Given the description of an element on the screen output the (x, y) to click on. 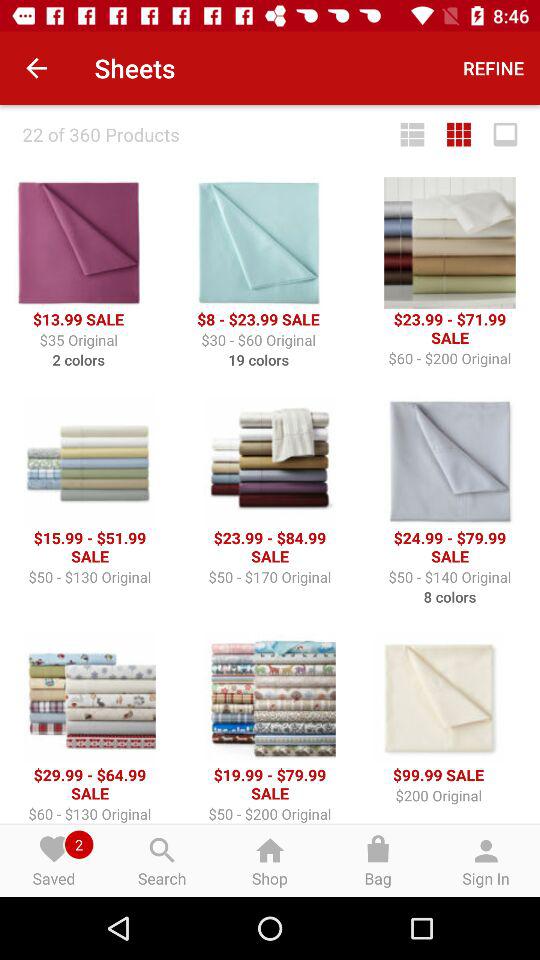
turn on the icon to the right of the sheets (493, 67)
